Given the description of an element on the screen output the (x, y) to click on. 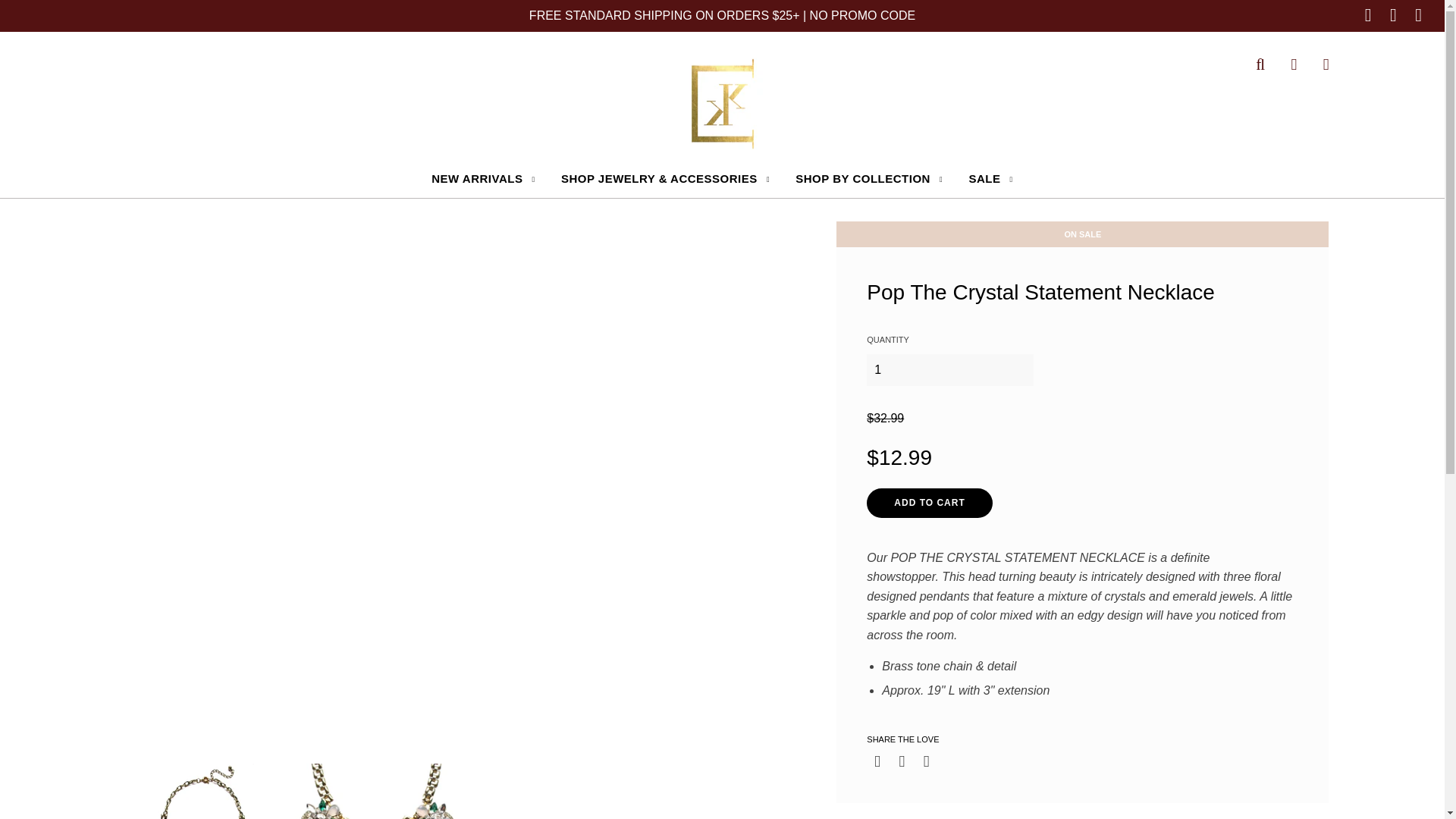
1 (949, 369)
